Given the description of an element on the screen output the (x, y) to click on. 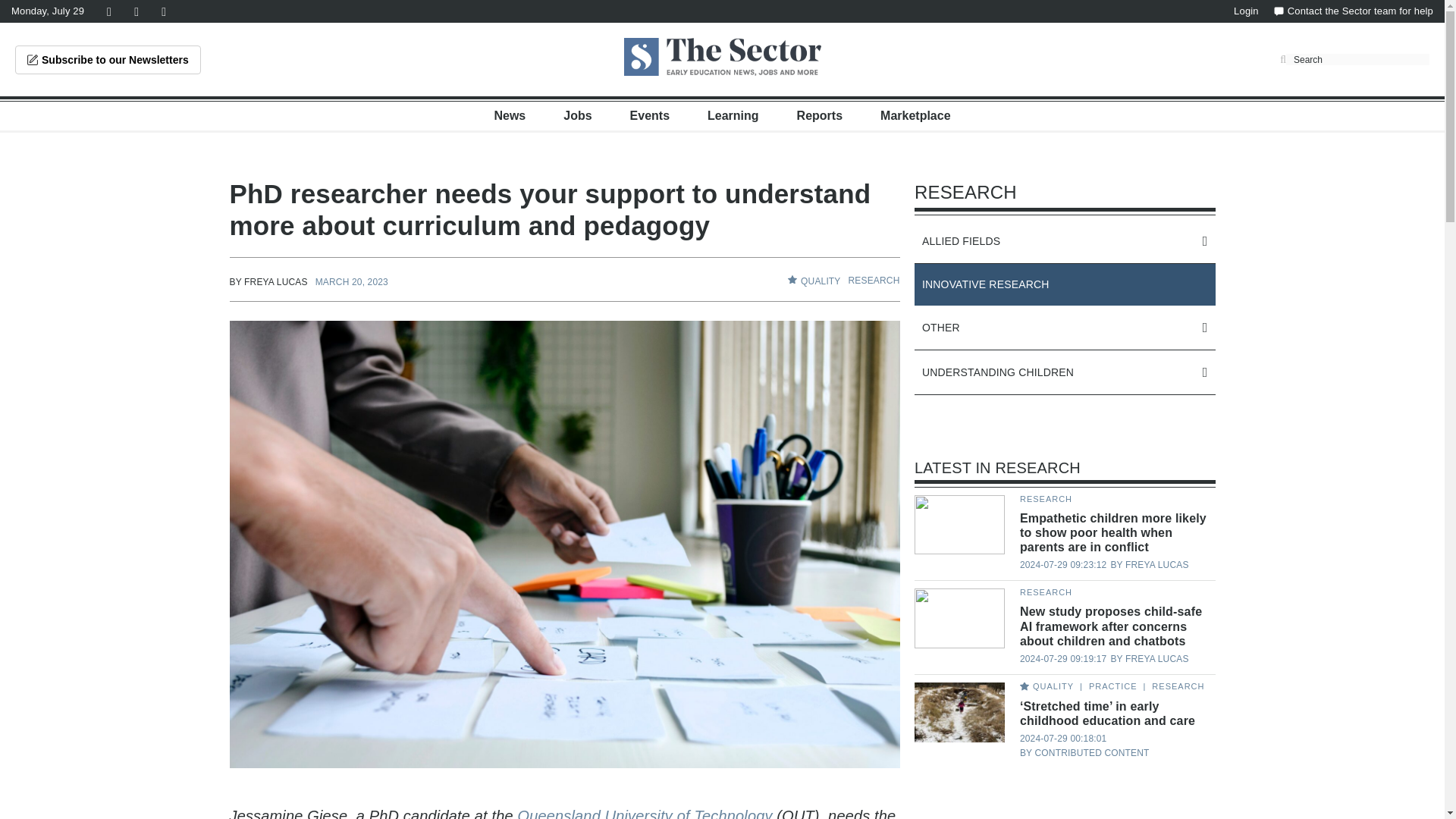
News (509, 115)
Marketplace (915, 115)
Queensland University of Technology (643, 813)
RESEARCH (873, 280)
SHAPE COPY 5 CREATED WITH SKETCH. (791, 279)
Reports (819, 115)
Login (1246, 11)
Subscribe to our Newsletters (107, 59)
Jobs (577, 115)
Learning (732, 115)
Events (649, 115)
Contact the Sector team for help (1353, 11)
SHAPE COPY 5 CREATED WITH SKETCH. QUALITY (813, 280)
